Given the description of an element on the screen output the (x, y) to click on. 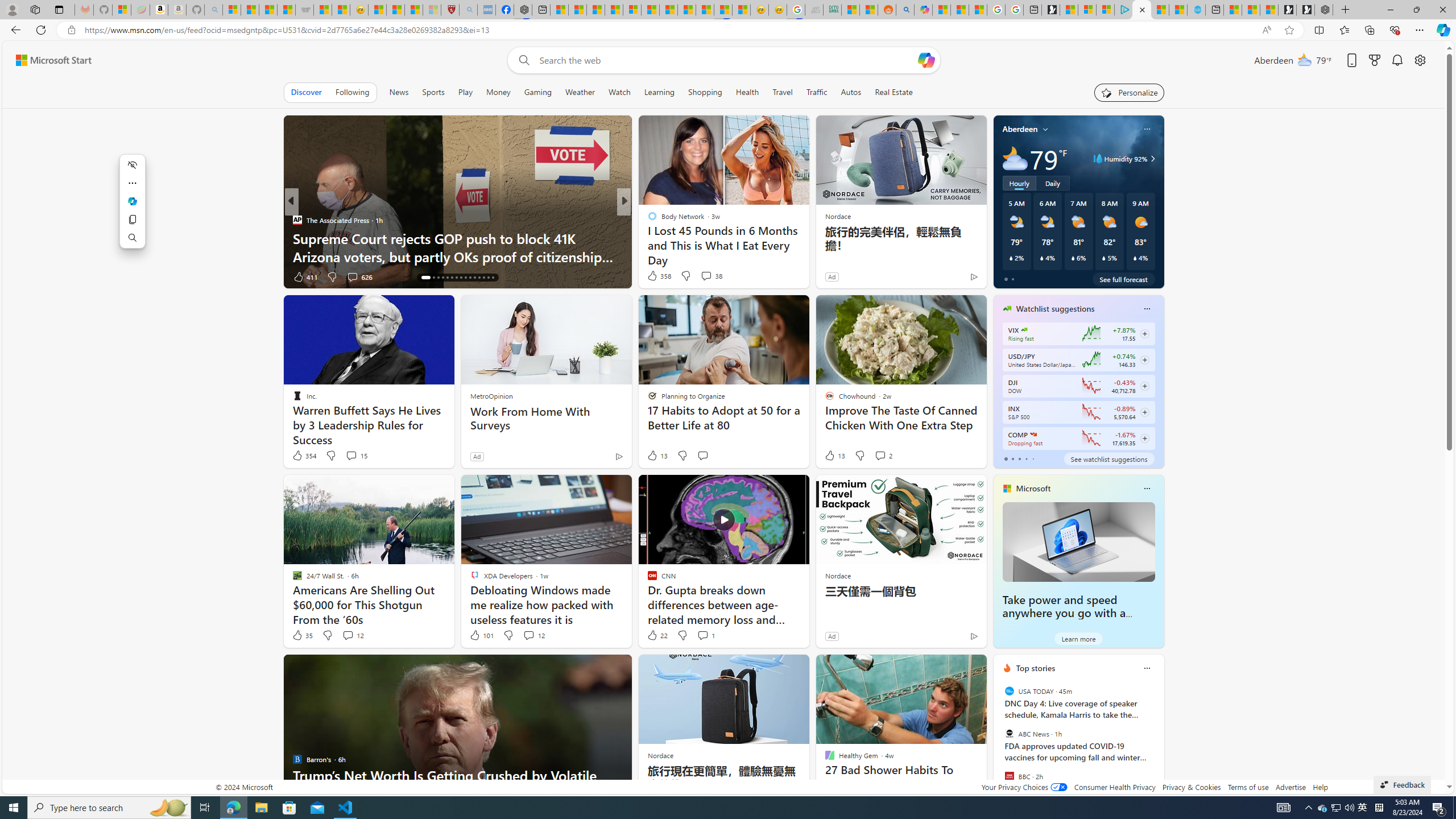
Watchlist suggestions (1055, 308)
14 Like (652, 276)
See watchlist suggestions (1108, 459)
452 Like (654, 276)
Cycling Experts (807, 256)
Class: weather-arrow-glyph (1152, 158)
Personalize your feed" (1129, 92)
These 3 Stocks Pay You More Than 5% to Own Them (807, 256)
